Given the description of an element on the screen output the (x, y) to click on. 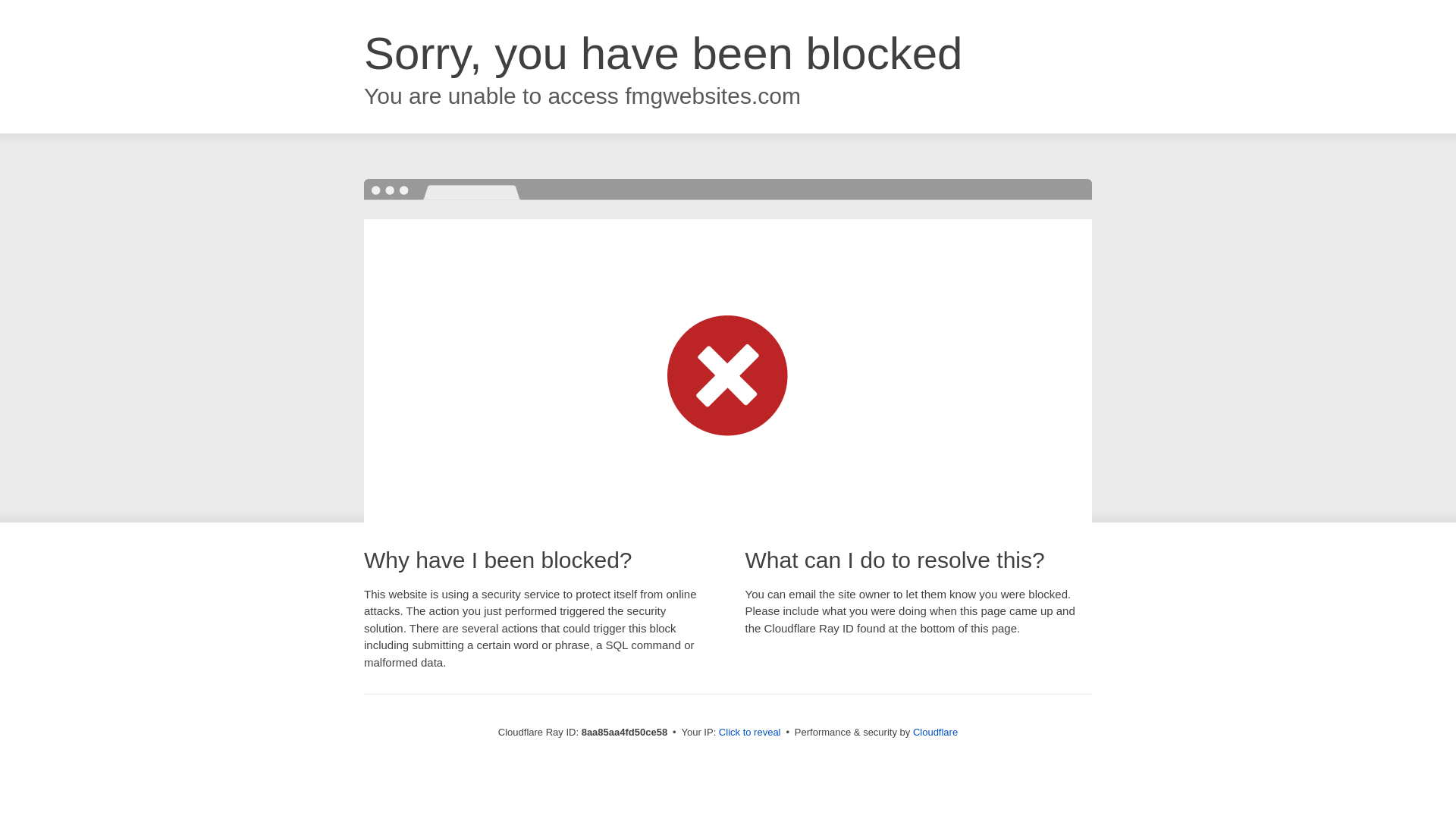
Click to reveal (749, 732)
Cloudflare (935, 731)
